Given the description of an element on the screen output the (x, y) to click on. 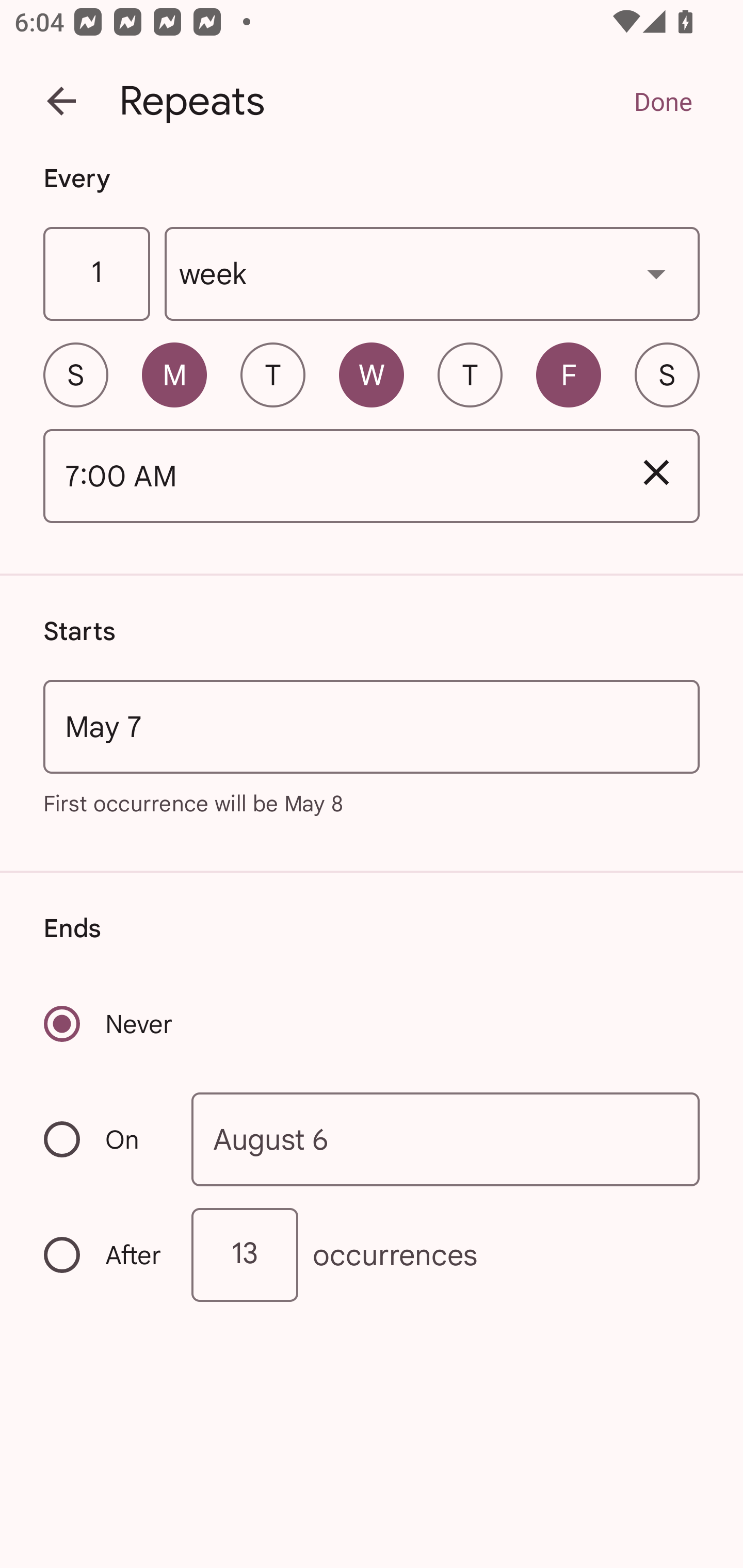
Back (61, 101)
Done (663, 101)
1 (96, 274)
week (431, 274)
Show dropdown menu (655, 273)
S Sunday (75, 374)
M Monday, selected (173, 374)
T Tuesday (272, 374)
W Wednesday, selected (371, 374)
T Thursday (469, 374)
F Friday, selected (568, 374)
S Saturday (666, 374)
7:00 AM (327, 476)
Remove 7:00 AM (655, 472)
May 7 (371, 726)
Never Recurrence never ends (109, 1023)
August 6 (445, 1139)
On Recurrence ends on a specific date (104, 1138)
13 (244, 1254)
